Given the description of an element on the screen output the (x, y) to click on. 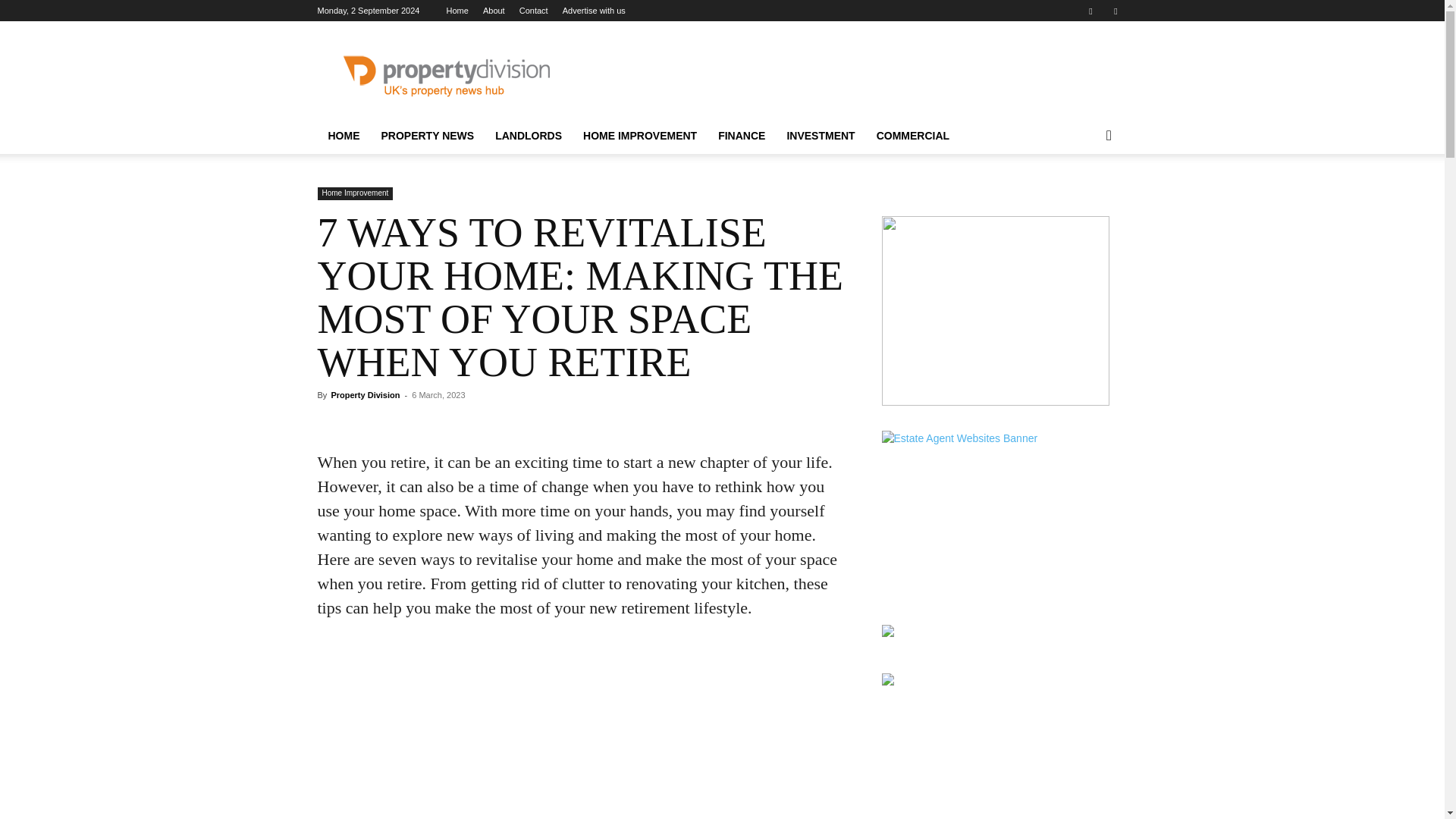
Search (1085, 196)
Advertise with us (594, 10)
HOME (343, 135)
Home Improvement (355, 193)
Twitter (1114, 10)
COMMERCIAL (912, 135)
FINANCE (741, 135)
INVESTMENT (820, 135)
Property Division (364, 394)
About (494, 10)
